Given the description of an element on the screen output the (x, y) to click on. 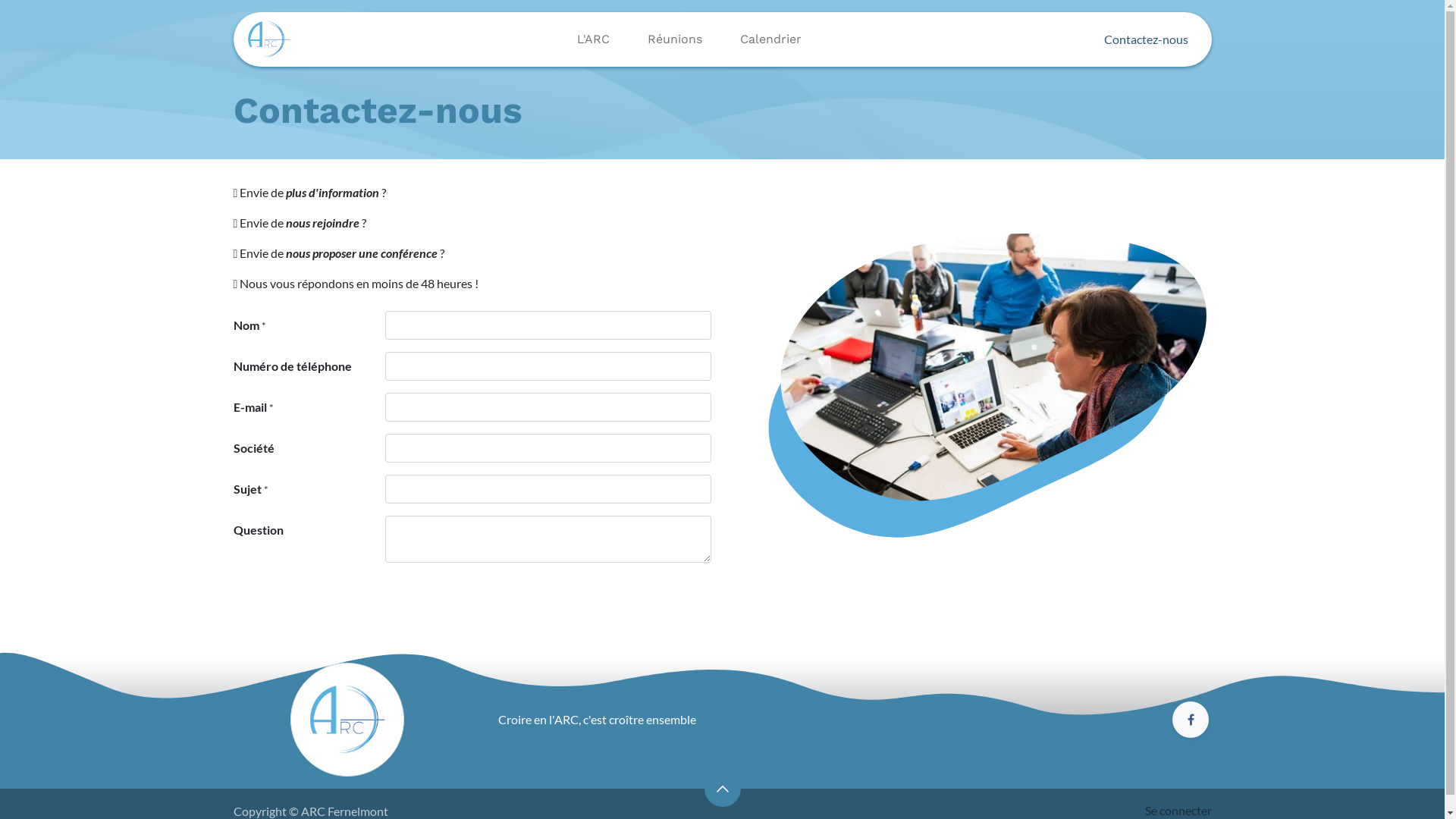
L'ARC Fernelmont Element type: hover (268, 39)
Se connecter Element type: text (1178, 810)
Calendrier Element type: text (770, 39)
L'ARC Element type: text (593, 39)
Contactez-nous Element type: text (1145, 39)
